Given the description of an element on the screen output the (x, y) to click on. 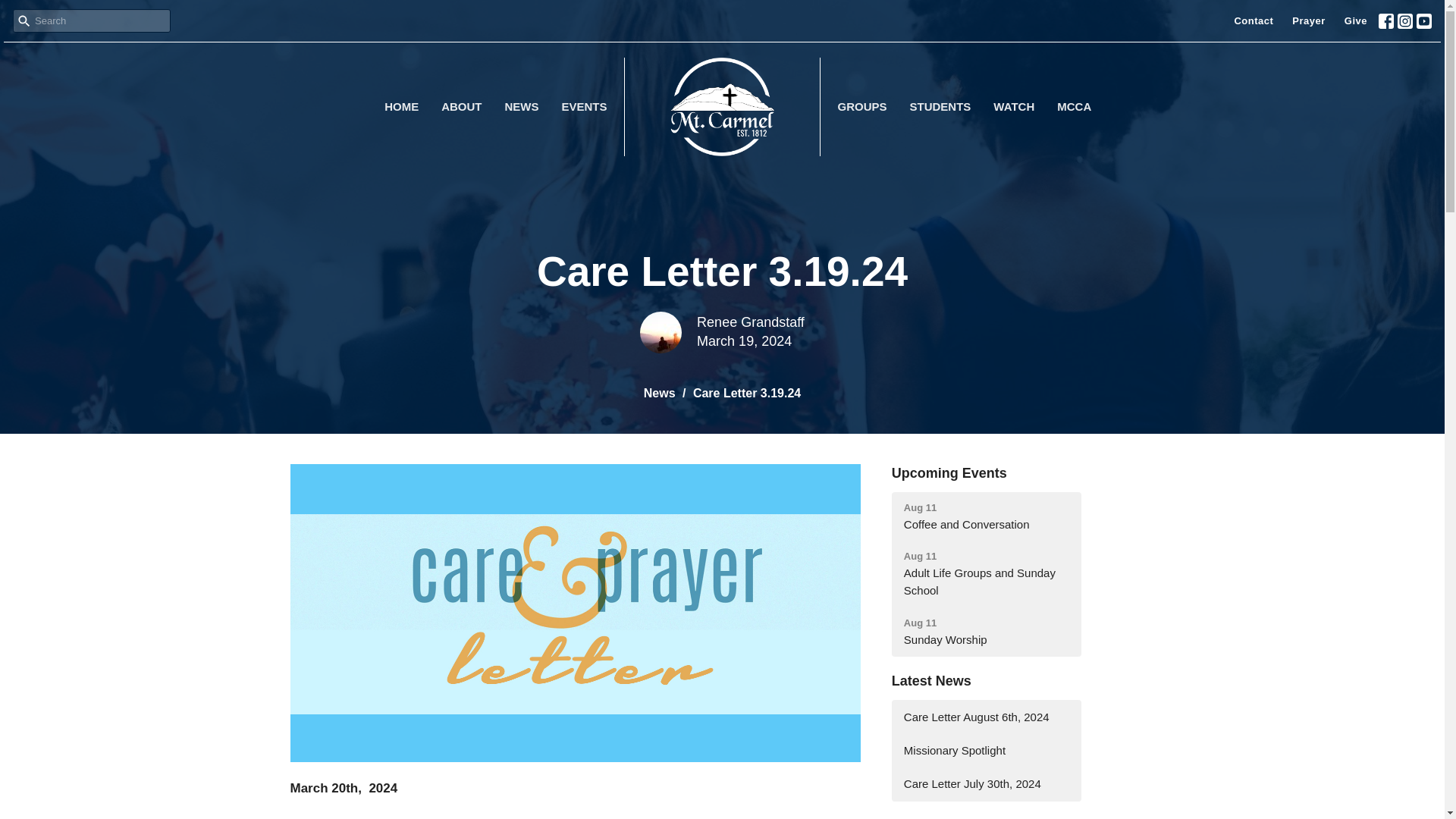
Latest News (931, 680)
EVENTS (986, 574)
STUDENTS (584, 106)
News (986, 631)
Care Letter August 6th, 2024 (940, 106)
Care Letter July 30th, 2024 (659, 392)
ABOUT (986, 716)
Contact (986, 783)
